Given the description of an element on the screen output the (x, y) to click on. 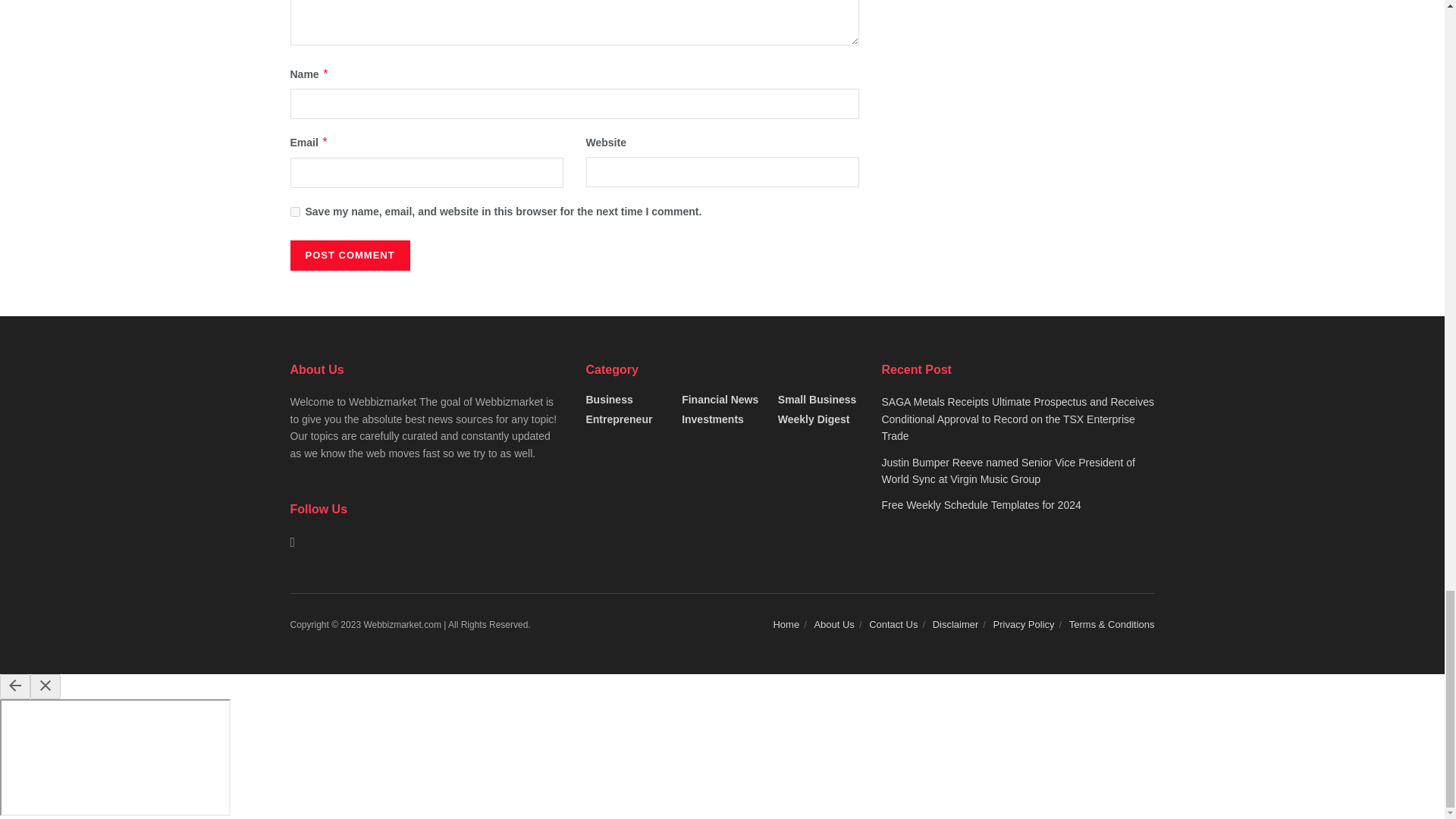
yes (294, 212)
Post Comment (349, 255)
